Given the description of an element on the screen output the (x, y) to click on. 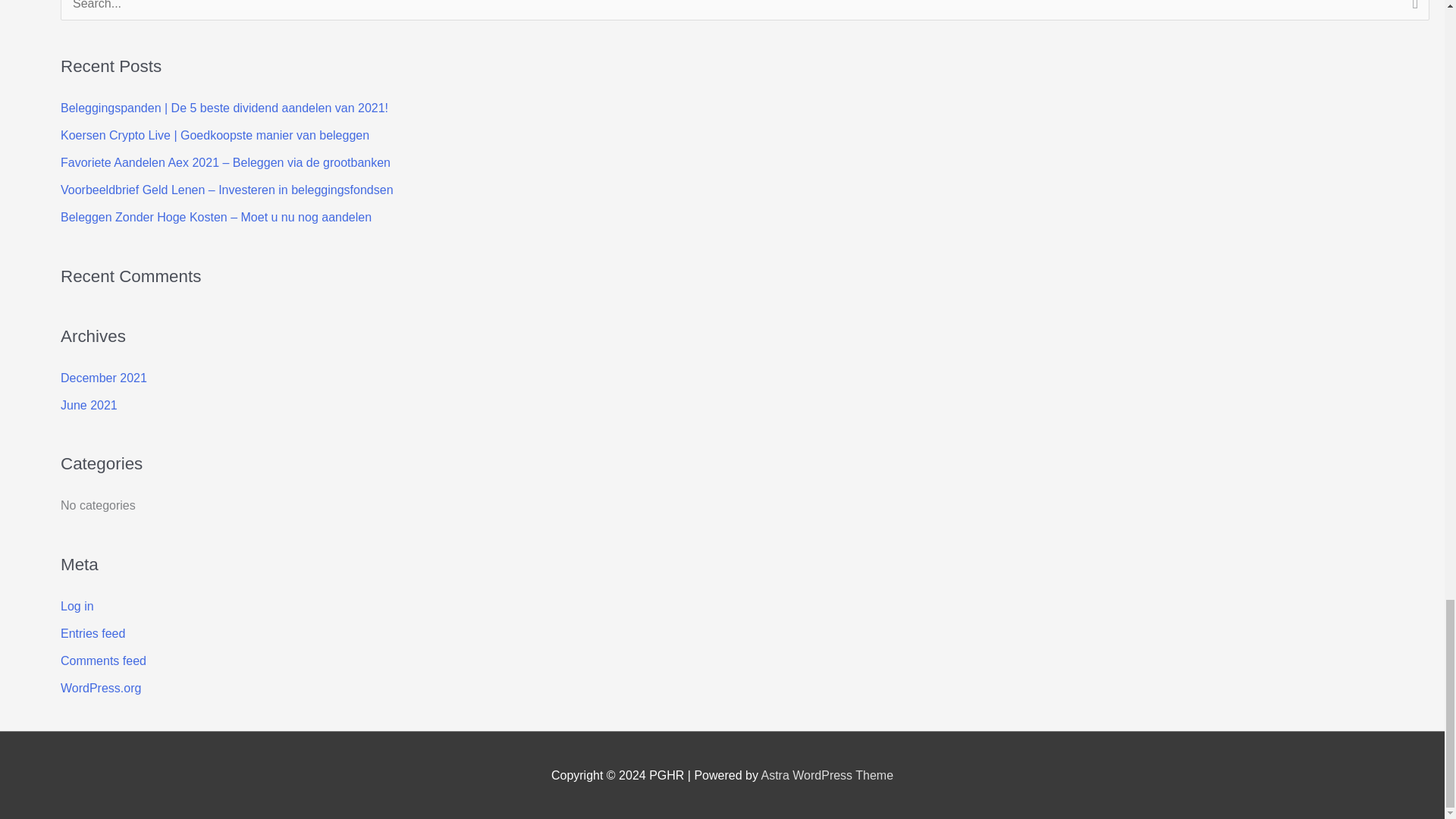
Search (1411, 14)
Search (1411, 14)
Search (1411, 14)
